Given the description of an element on the screen output the (x, y) to click on. 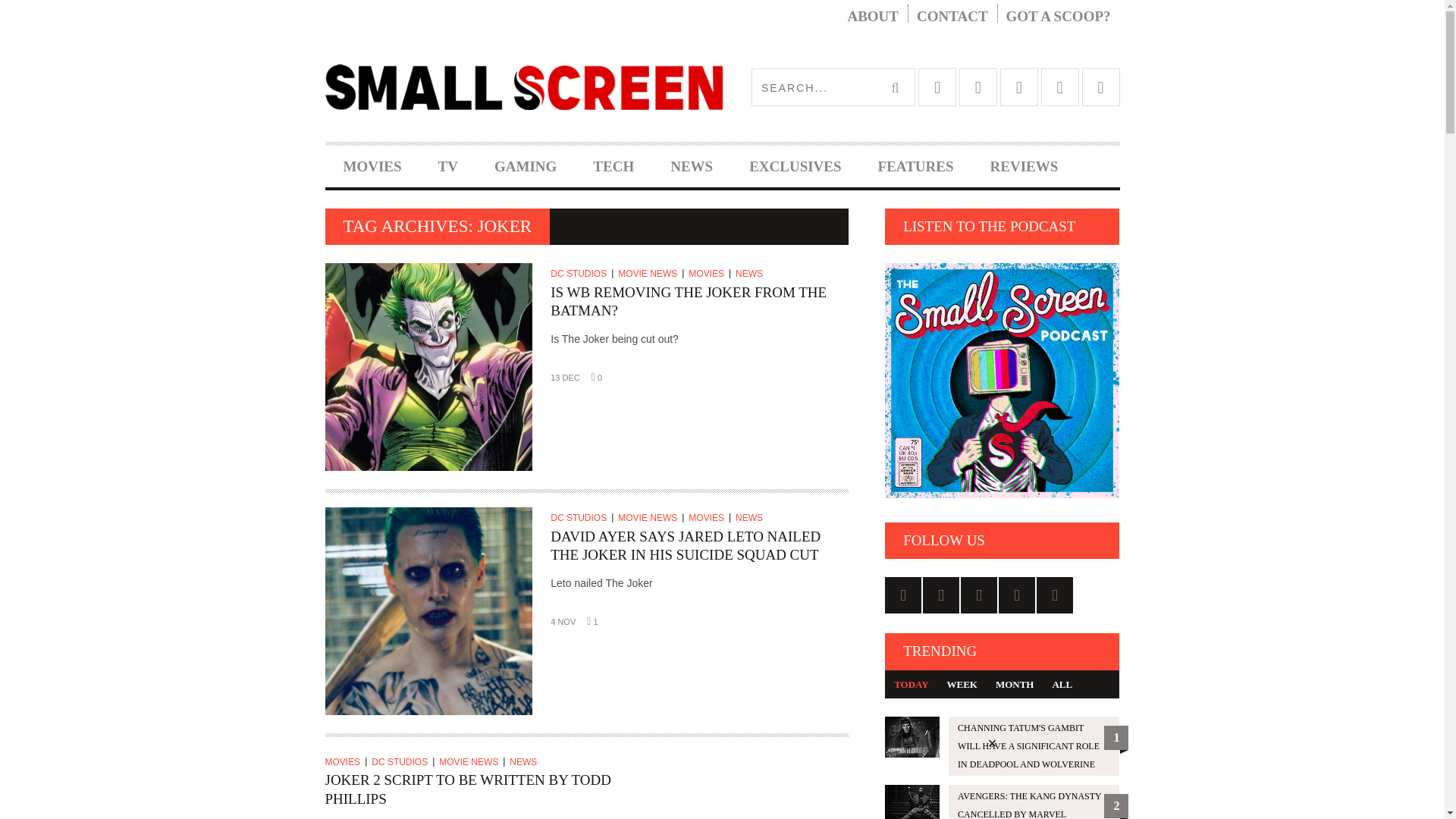
CONTACT (952, 16)
View all posts in DC STUDIOS (581, 273)
View all posts in NEWS (751, 273)
View all posts in MOVIE NEWS (650, 517)
View all posts in MOVIE NEWS (472, 761)
View all posts in NEWS (525, 761)
View all posts in NEWS (751, 517)
GOT A SCOOP? (1058, 16)
ABOUT (872, 16)
View all posts in DC STUDIOS (402, 761)
View all posts in MOVIES (709, 273)
View all posts in MOVIE NEWS (650, 273)
View all posts in DC STUDIOS (581, 517)
View all posts in MOVIES (709, 517)
View all posts in MOVIES (345, 761)
